Given the description of an element on the screen output the (x, y) to click on. 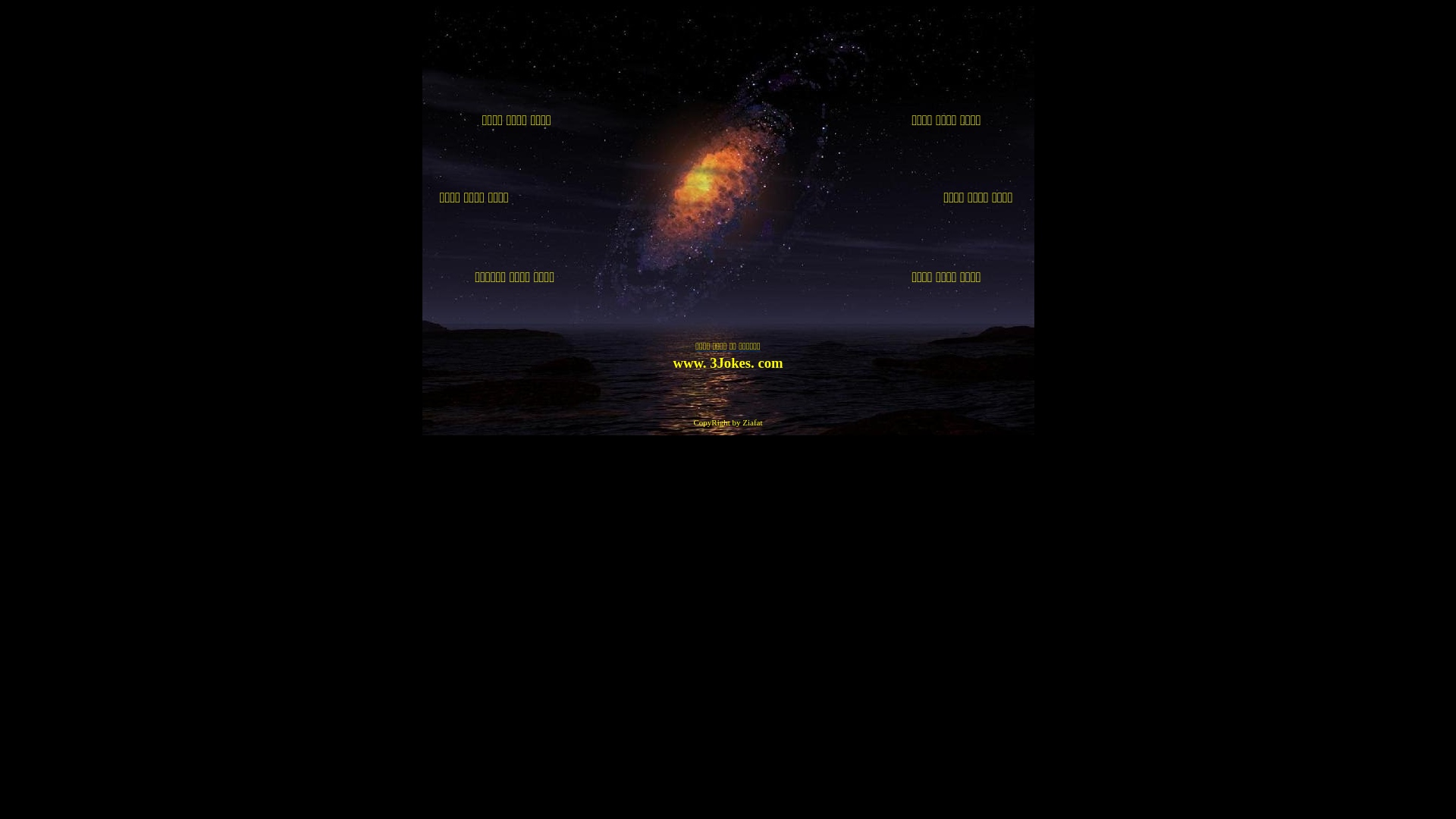
www. 3Jokes. com Element type: text (727, 362)
